Given the description of an element on the screen output the (x, y) to click on. 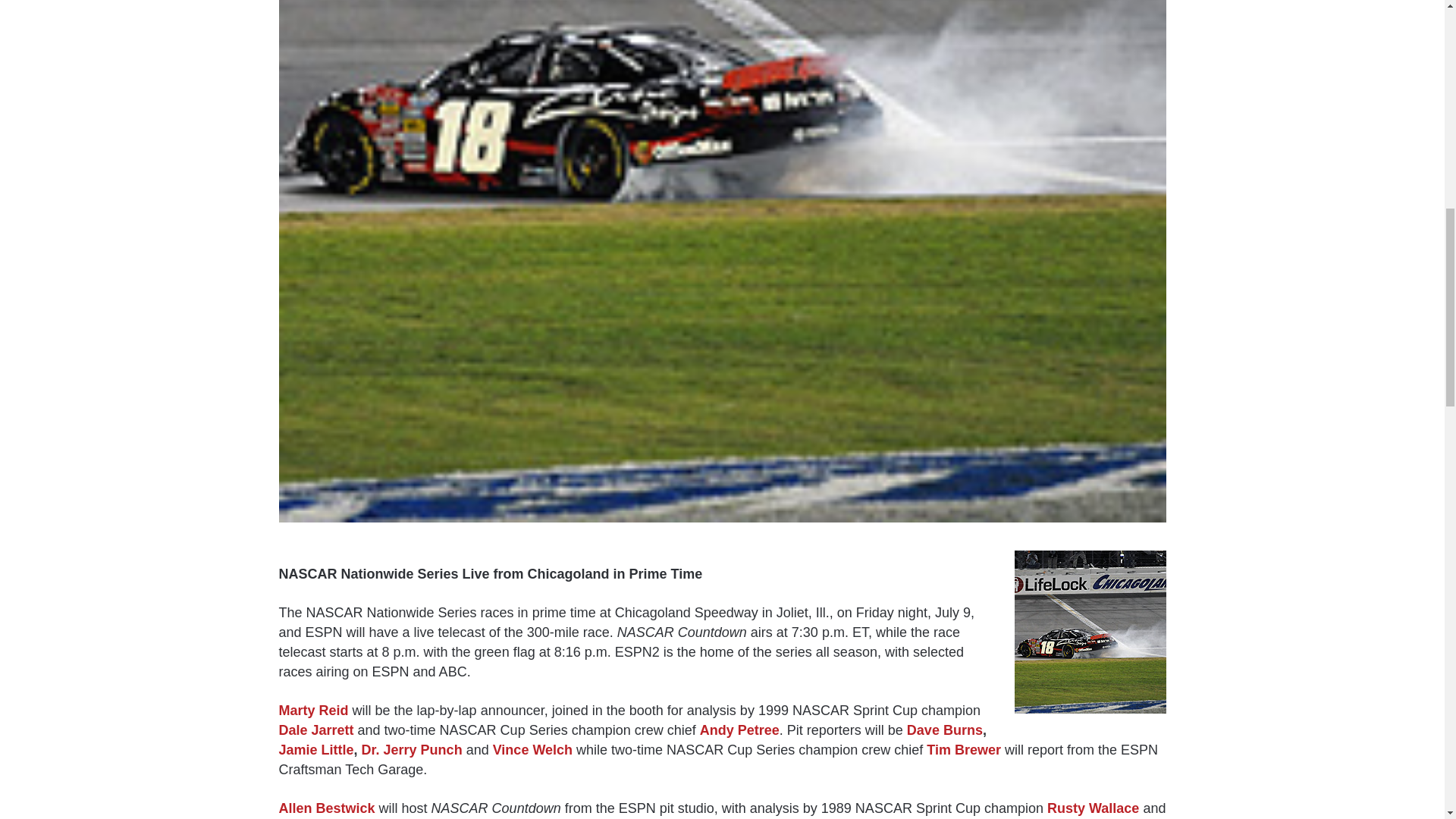
Dale Jarrett (316, 729)
Marty Reid (314, 710)
